Given the description of an element on the screen output the (x, y) to click on. 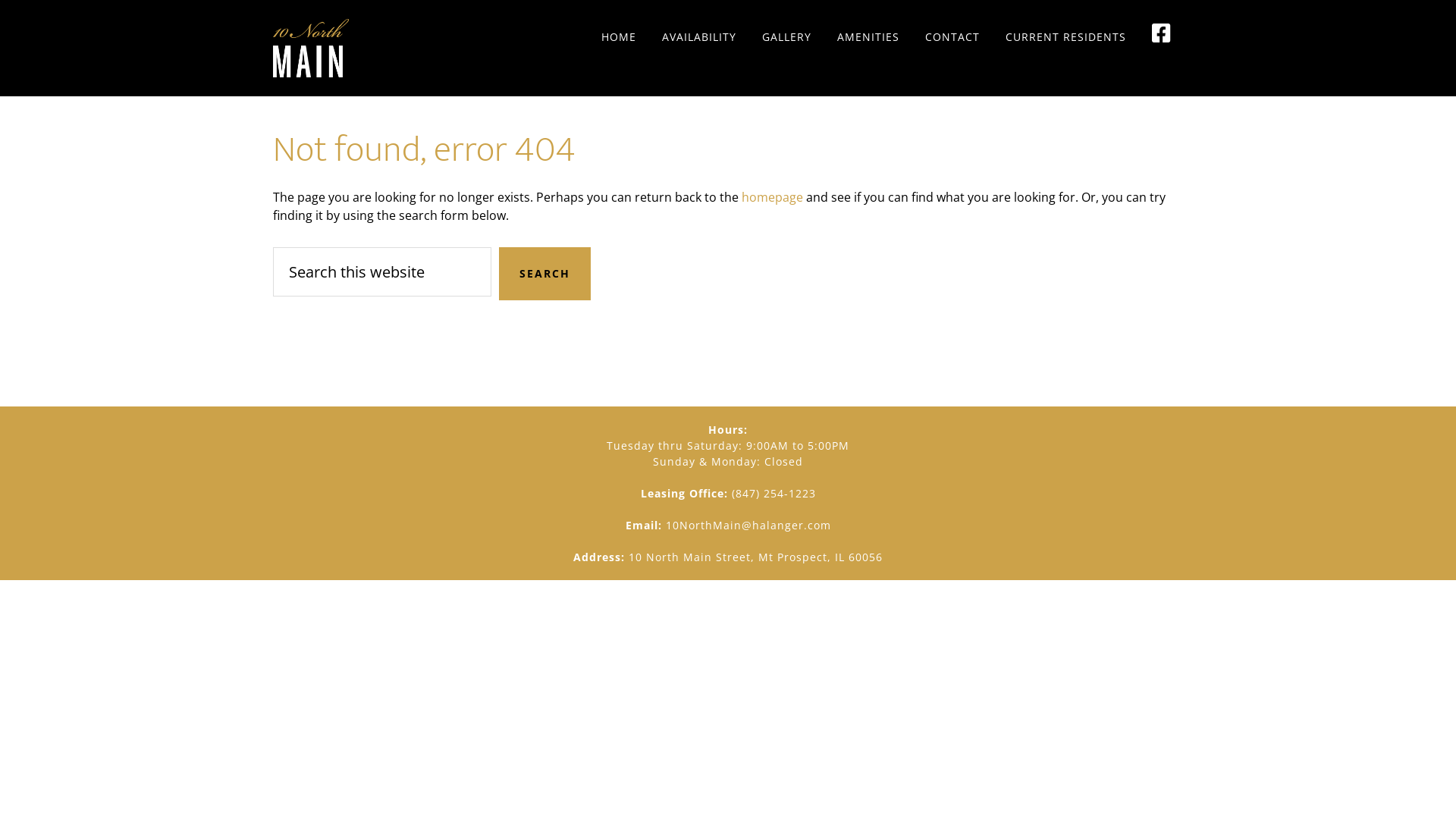
CURRENT RESIDENTS Element type: text (1065, 37)
CONTACT Element type: text (952, 37)
Search Element type: text (544, 273)
GALLERY Element type: text (786, 37)
Skip to main content Element type: text (0, 0)
AVAILABILITY Element type: text (698, 37)
homepage Element type: text (772, 196)
AMENITIES Element type: text (867, 37)
HOME Element type: text (618, 37)
